Given the description of an element on the screen output the (x, y) to click on. 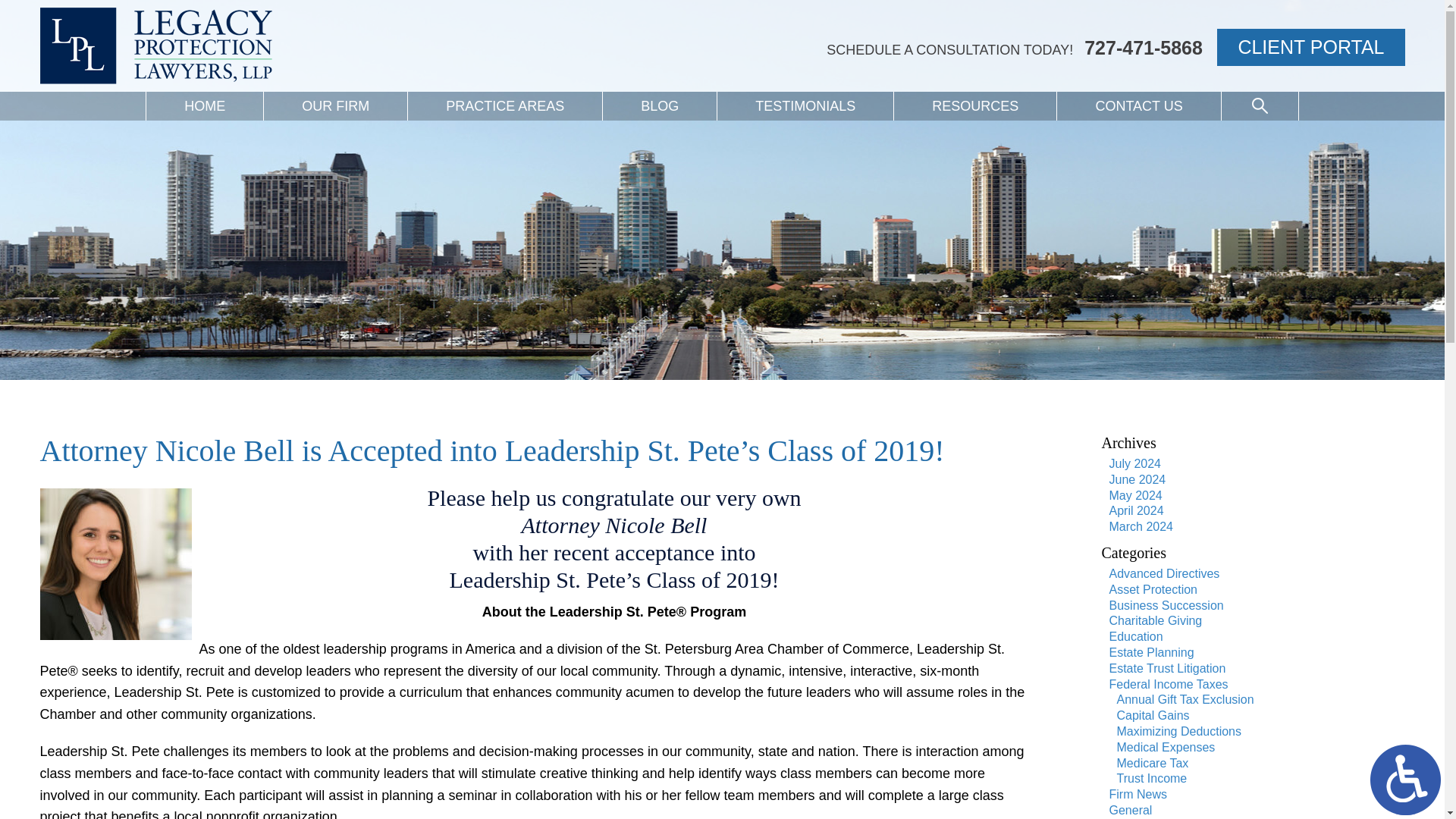
TESTIMONIALS (805, 105)
727-471-5868 (1139, 7)
RESOURCES (975, 105)
HOME (205, 77)
BLOG (659, 105)
Bell (114, 563)
CLIENT PORTAL (1311, 13)
PRACTICE AREAS (504, 92)
Search (1260, 105)
OUR FIRM (335, 80)
SCHEDULE A CONSULTATION TODAY! (950, 4)
Legacy Protection Lawyers, LLP (154, 45)
